Given the description of an element on the screen output the (x, y) to click on. 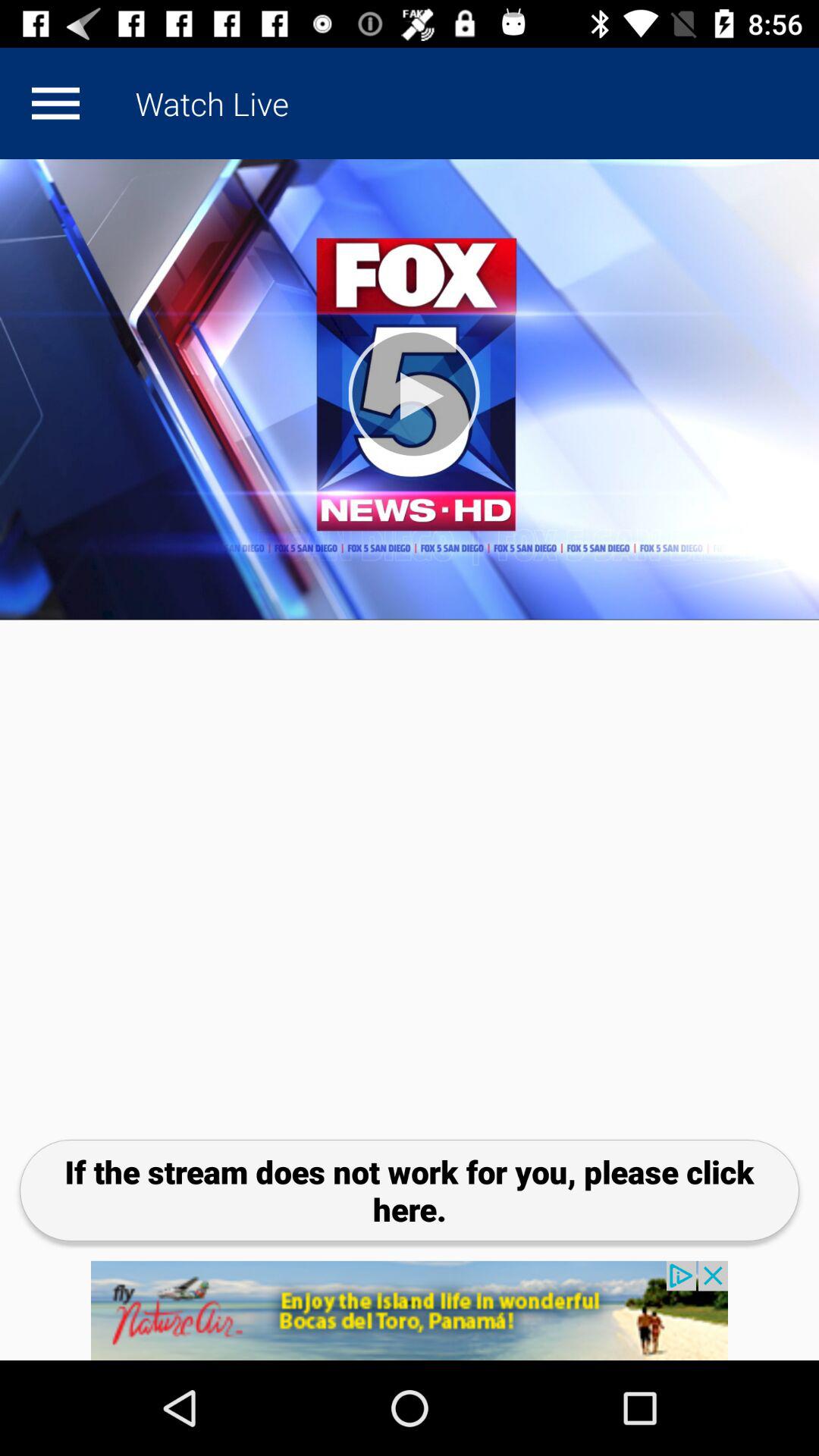
play (409, 389)
